Given the description of an element on the screen output the (x, y) to click on. 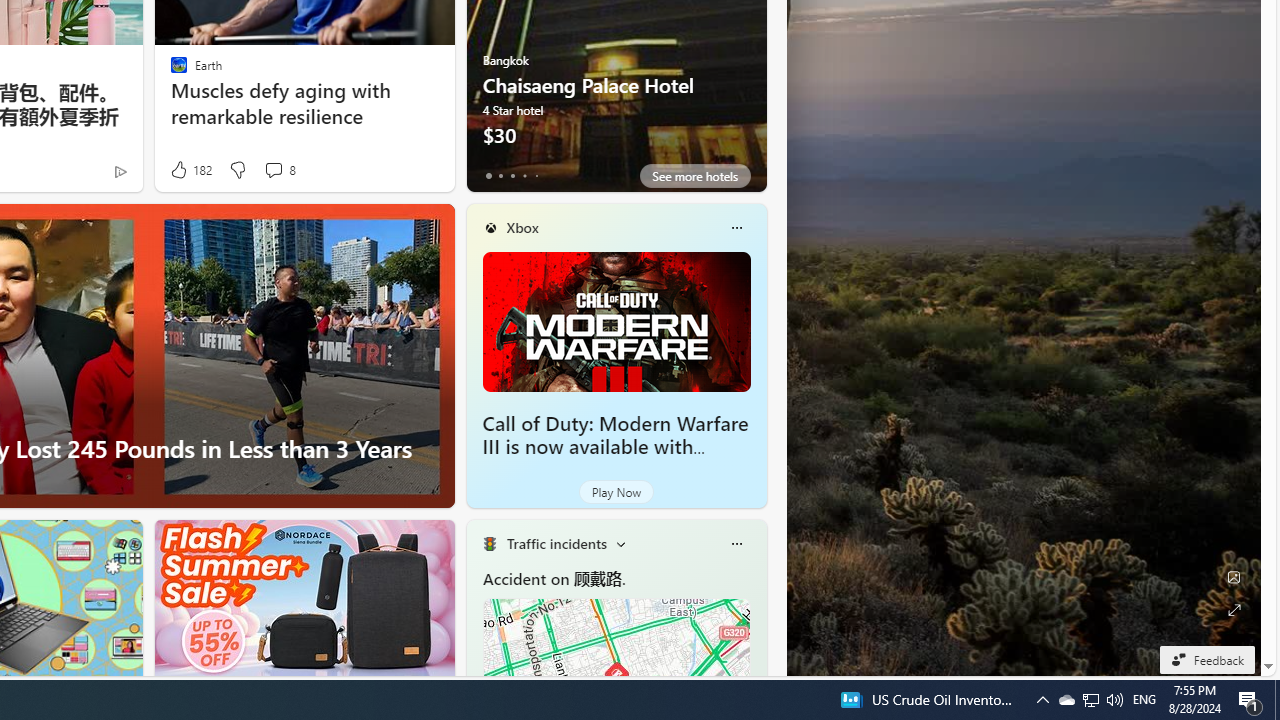
See more hotels (694, 175)
tab-3 (524, 175)
Traffic Title Traffic Light (489, 543)
182 Like (190, 170)
View comments 8 Comment (273, 169)
Expand background (1233, 610)
tab-4 (535, 175)
Xbox (521, 227)
View comments 8 Comment (279, 170)
